Given the description of an element on the screen output the (x, y) to click on. 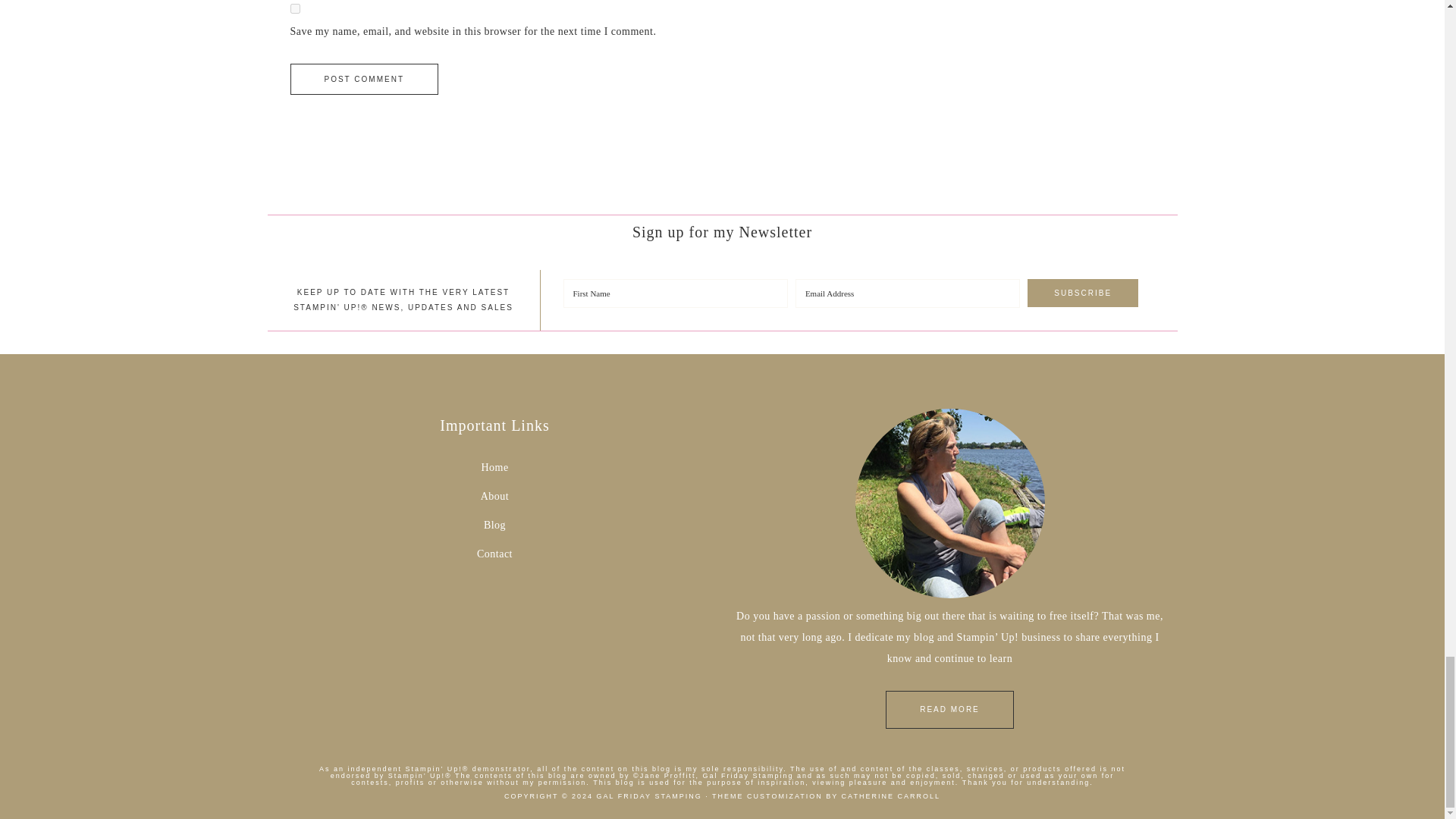
Subscribe (1082, 293)
Post Comment (363, 79)
yes (294, 8)
Post Comment (363, 79)
